Given the description of an element on the screen output the (x, y) to click on. 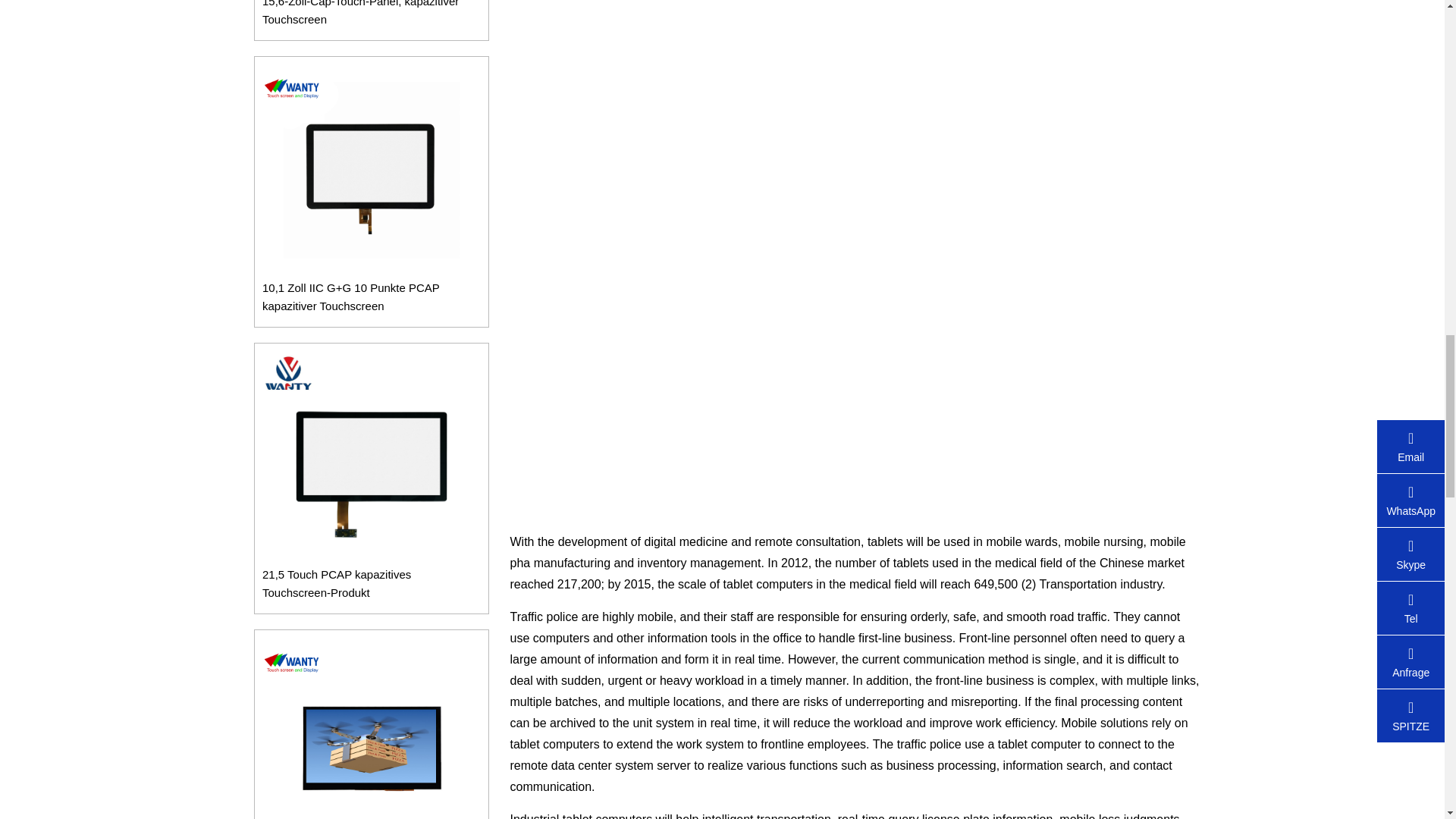
15,6-Zoll-Cap-Touch-Panel, kapazitiver Touchscreen (371, 14)
